Given the description of an element on the screen output the (x, y) to click on. 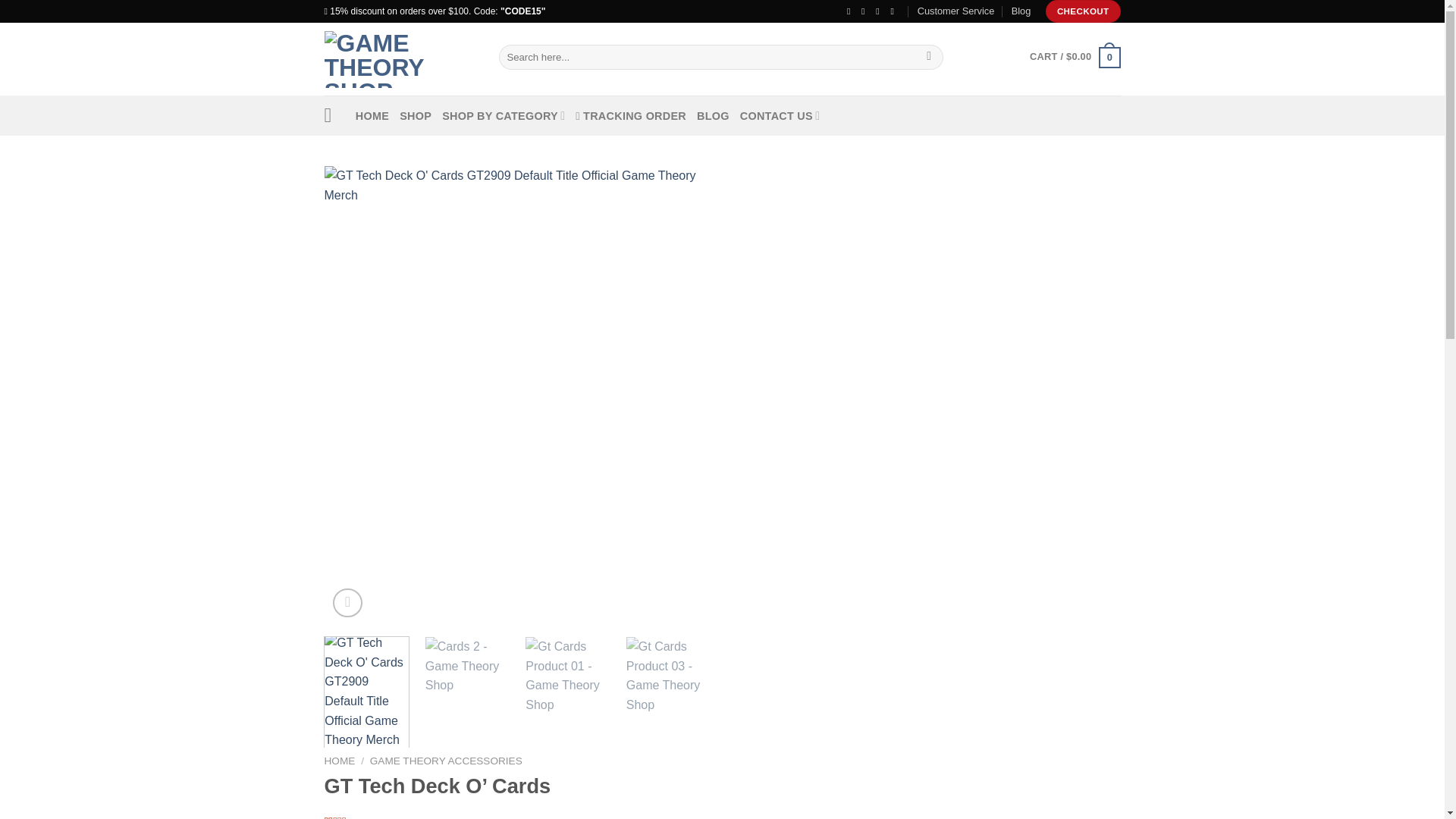
Search (929, 57)
Cart (1074, 56)
Zoom (347, 603)
SHOP (414, 115)
HOME (371, 115)
Customer Service (955, 11)
CHECKOUT (1083, 11)
Game Theory Shop - Official Game Theory Merchandise Store (400, 58)
SHOP BY CATEGORY (503, 115)
